Given the description of an element on the screen output the (x, y) to click on. 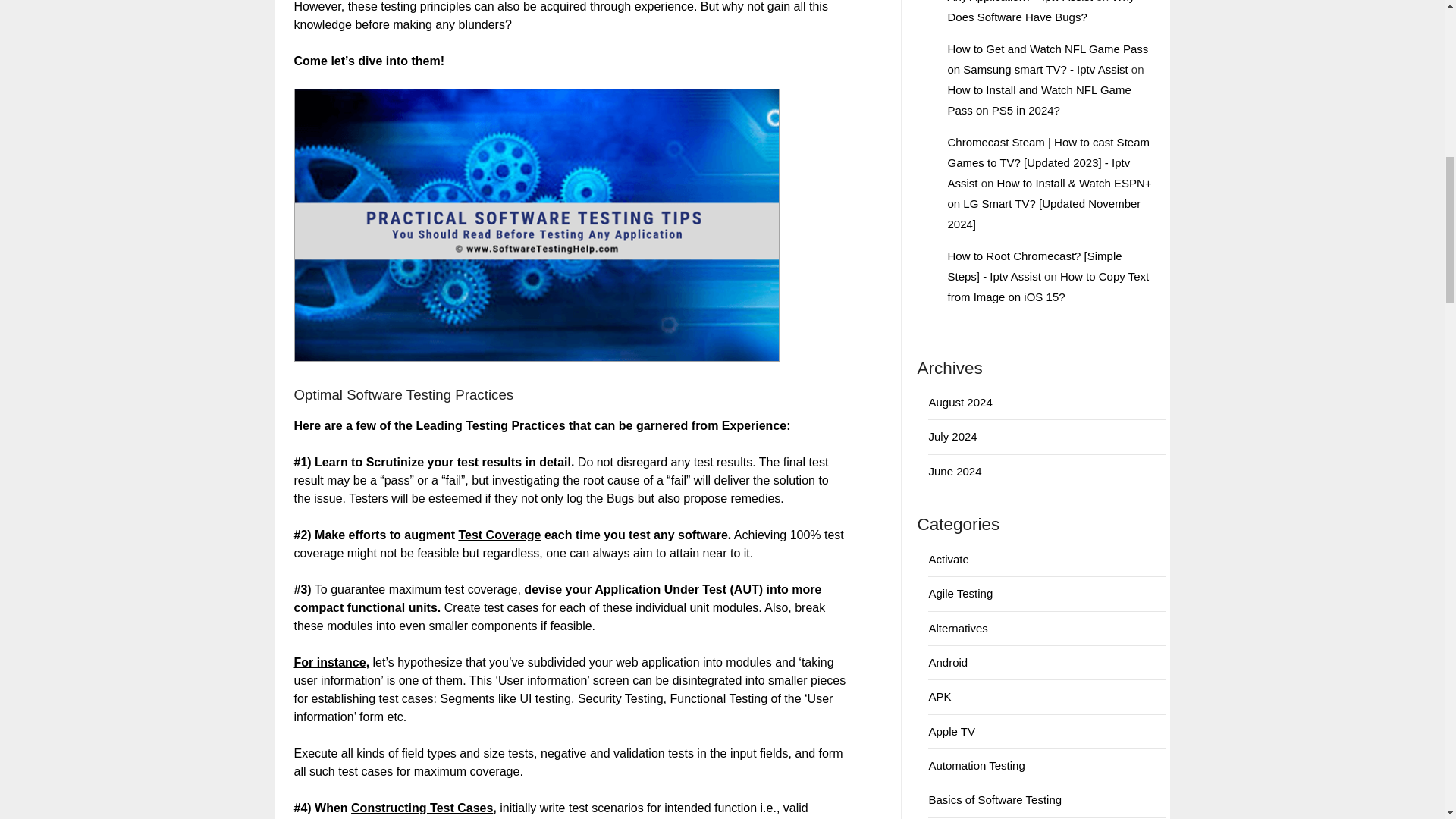
Why software have bugs? (617, 498)
Functional Testing (719, 698)
Bug (617, 498)
Security Testing (620, 698)
Test Coverage (499, 534)
Web testing example test cases (421, 807)
Constructing Test Cases (421, 807)
How to maximize test coverage (499, 534)
